Given the description of an element on the screen output the (x, y) to click on. 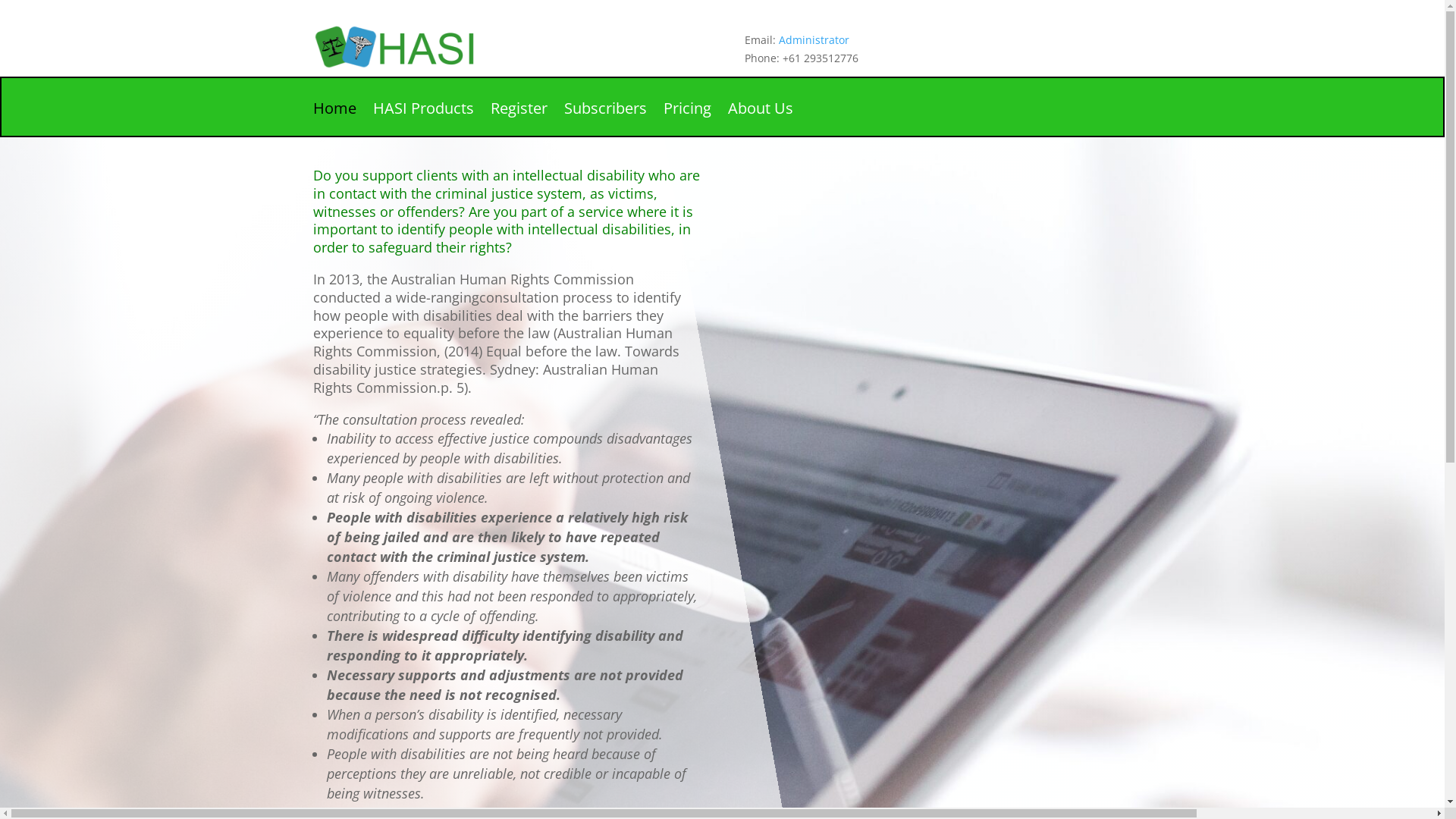
Home Element type: text (333, 119)
About Us Element type: text (760, 119)
Hasi_logo Element type: hover (425, 46)
Subscribers Element type: text (605, 119)
Pricing Element type: text (686, 119)
Administrator Element type: text (813, 39)
Register Element type: text (517, 119)
HASI Products Element type: text (423, 119)
